Given the description of an element on the screen output the (x, y) to click on. 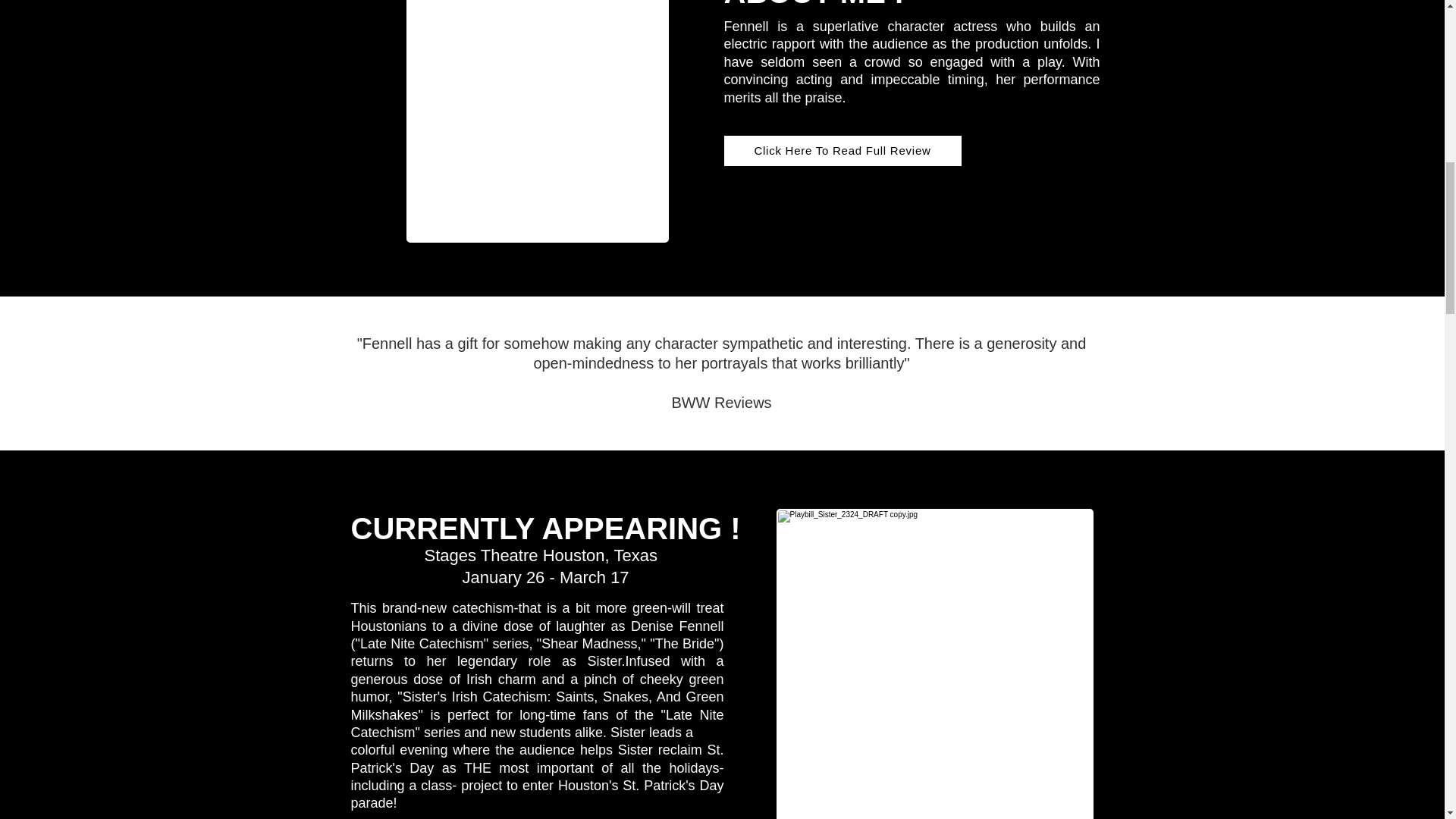
Click Here To Read Full Review (841, 150)
